Given the description of an element on the screen output the (x, y) to click on. 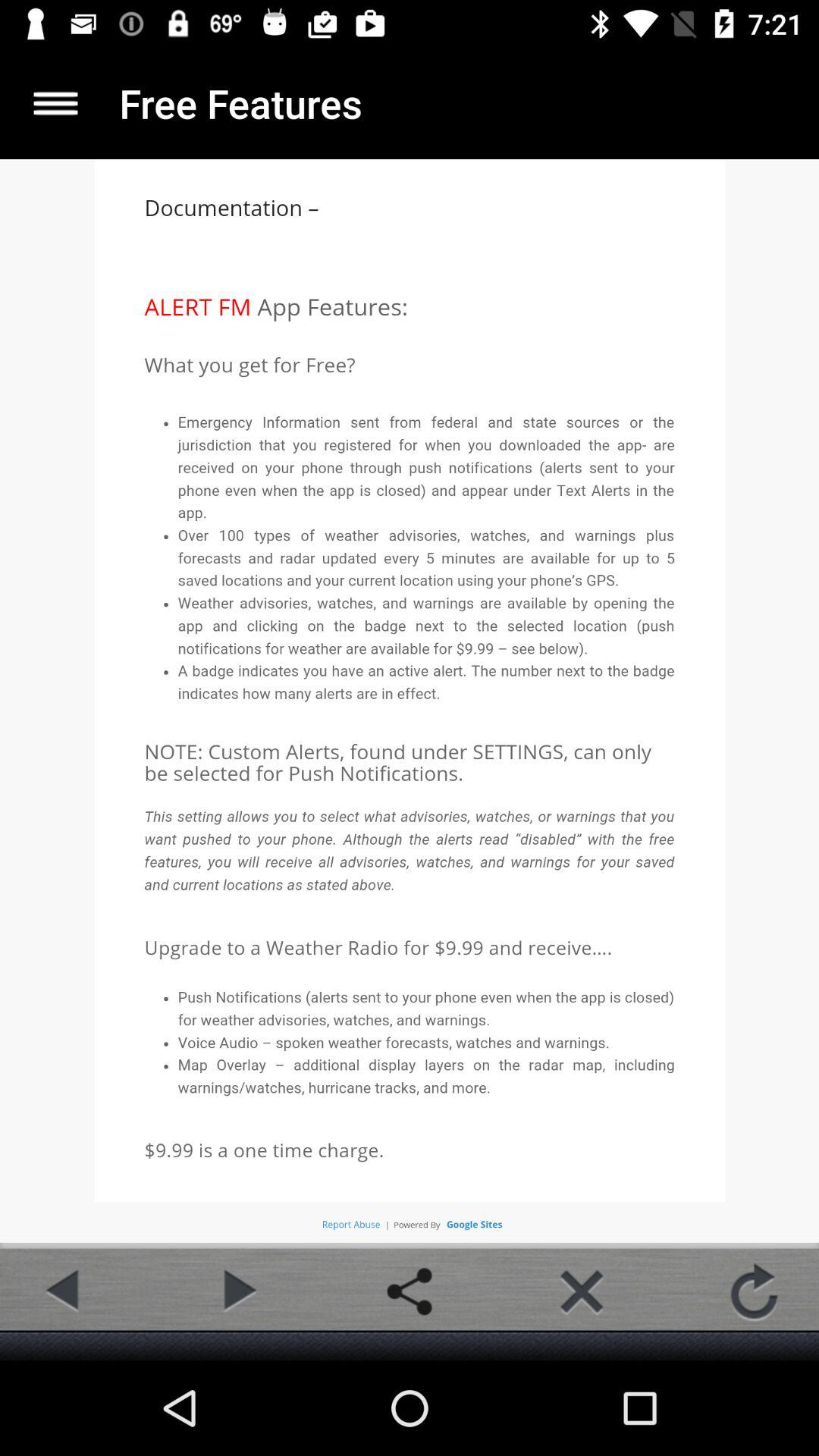
refresh button (754, 1291)
